Given the description of an element on the screen output the (x, y) to click on. 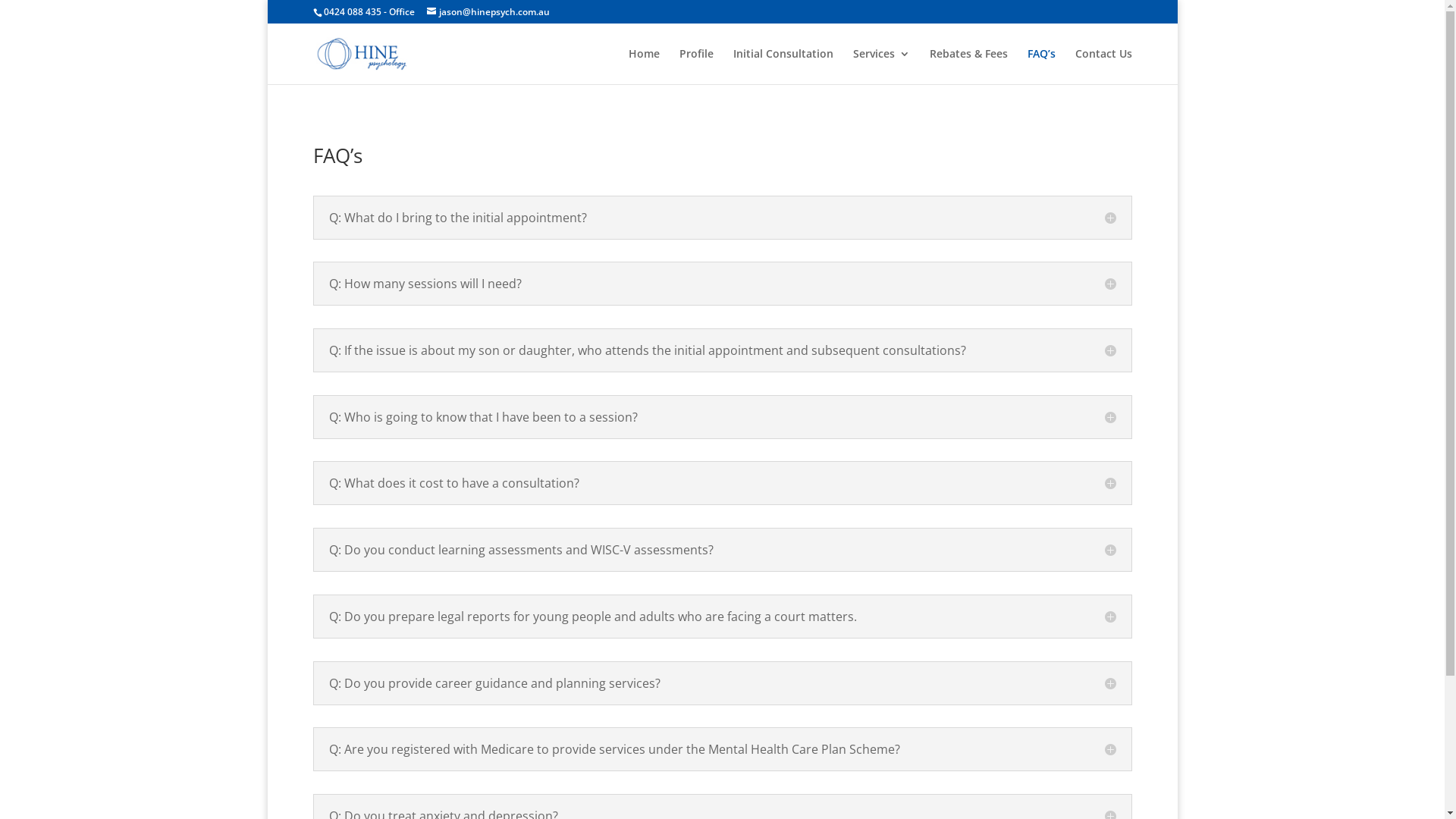
Profile Element type: text (696, 66)
jason@hinepsych.com.au Element type: text (487, 11)
Services Element type: text (880, 66)
Initial Consultation Element type: text (782, 66)
Home Element type: text (642, 66)
Rebates & Fees Element type: text (968, 66)
Contact Us Element type: text (1103, 66)
